Given the description of an element on the screen output the (x, y) to click on. 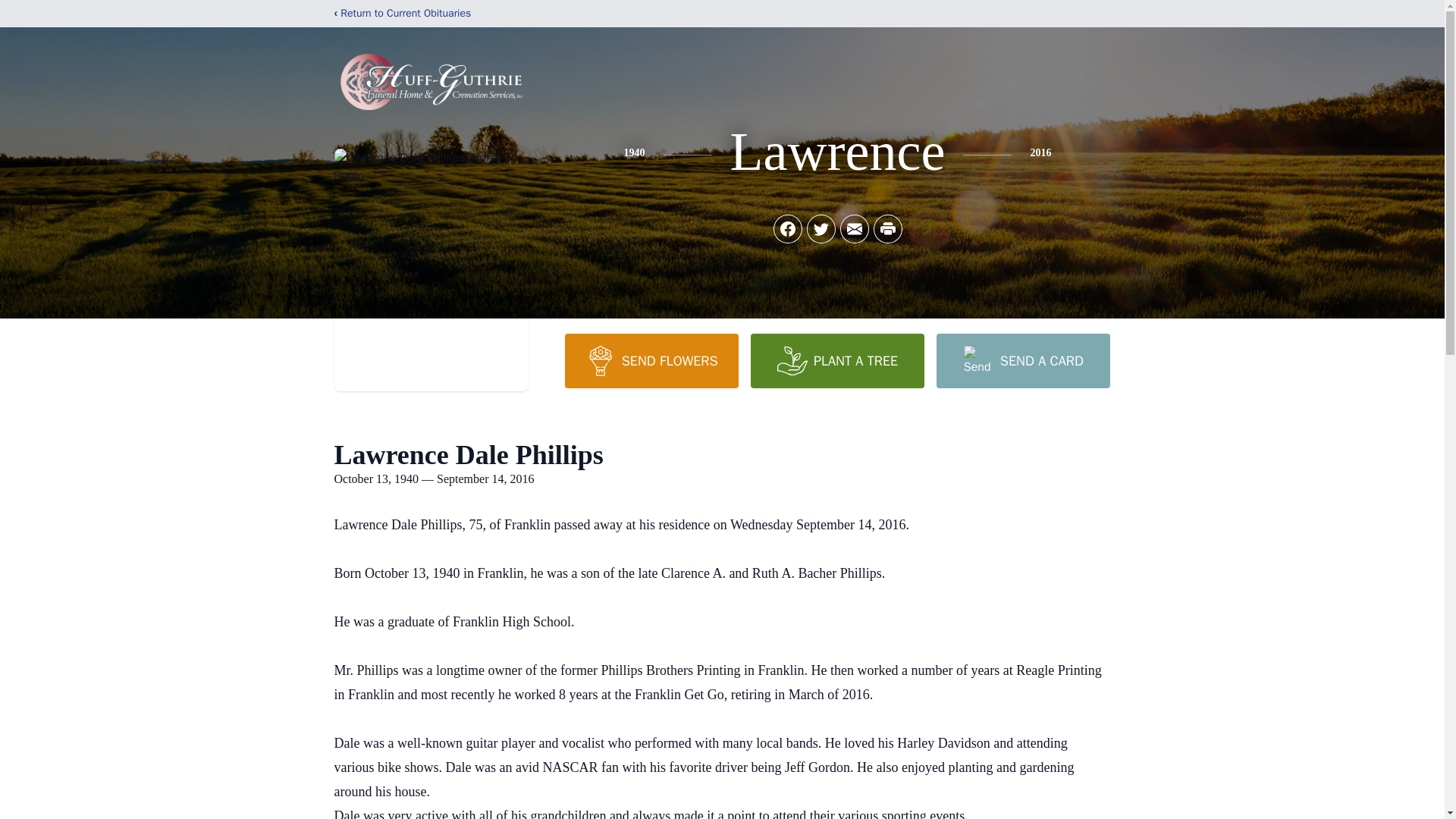
PLANT A TREE (837, 360)
SEND FLOWERS (651, 360)
SEND A CARD (1022, 360)
